Given the description of an element on the screen output the (x, y) to click on. 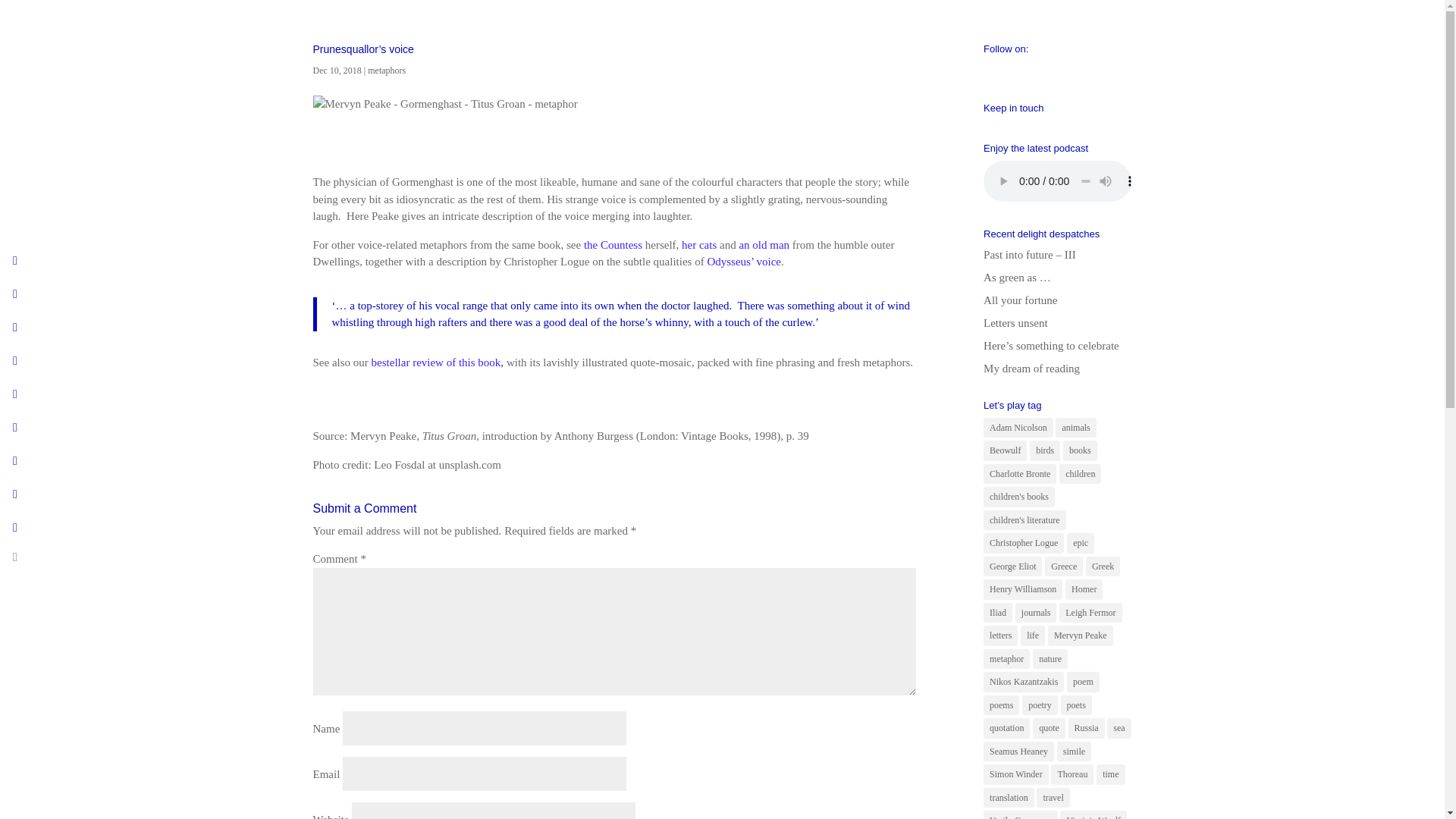
an old man (763, 244)
her cats (698, 244)
metaphors (387, 70)
bestellar review of this book, (437, 362)
the Countess (612, 244)
